Given the description of an element on the screen output the (x, y) to click on. 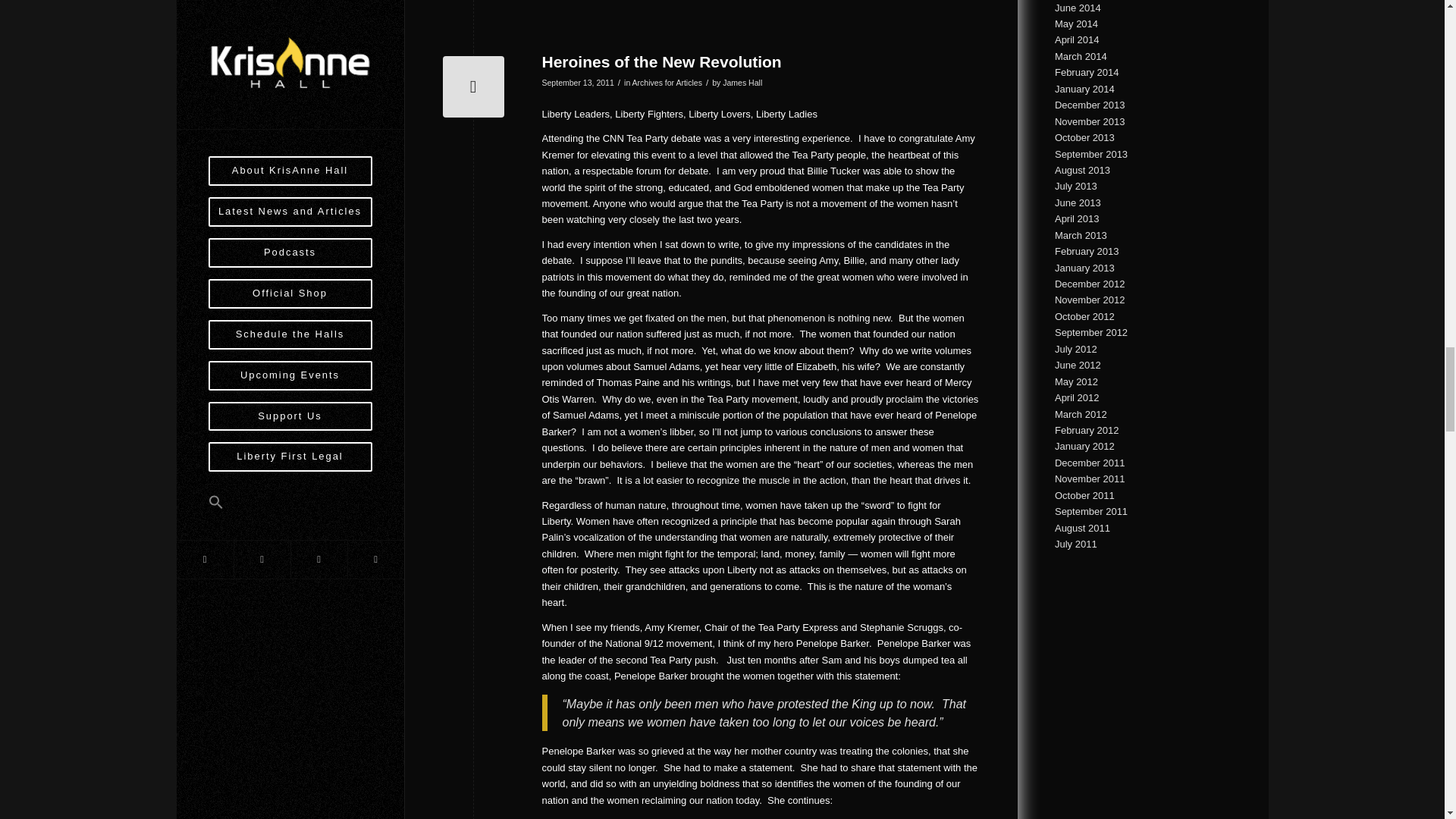
Posts by James Hall (741, 81)
Acts 176 (472, 86)
Permanent Link: Heroines of the New Revolution (660, 61)
James Hall (741, 81)
Archives for Articles (666, 81)
Heroines of the New Revolution (660, 61)
